Given the description of an element on the screen output the (x, y) to click on. 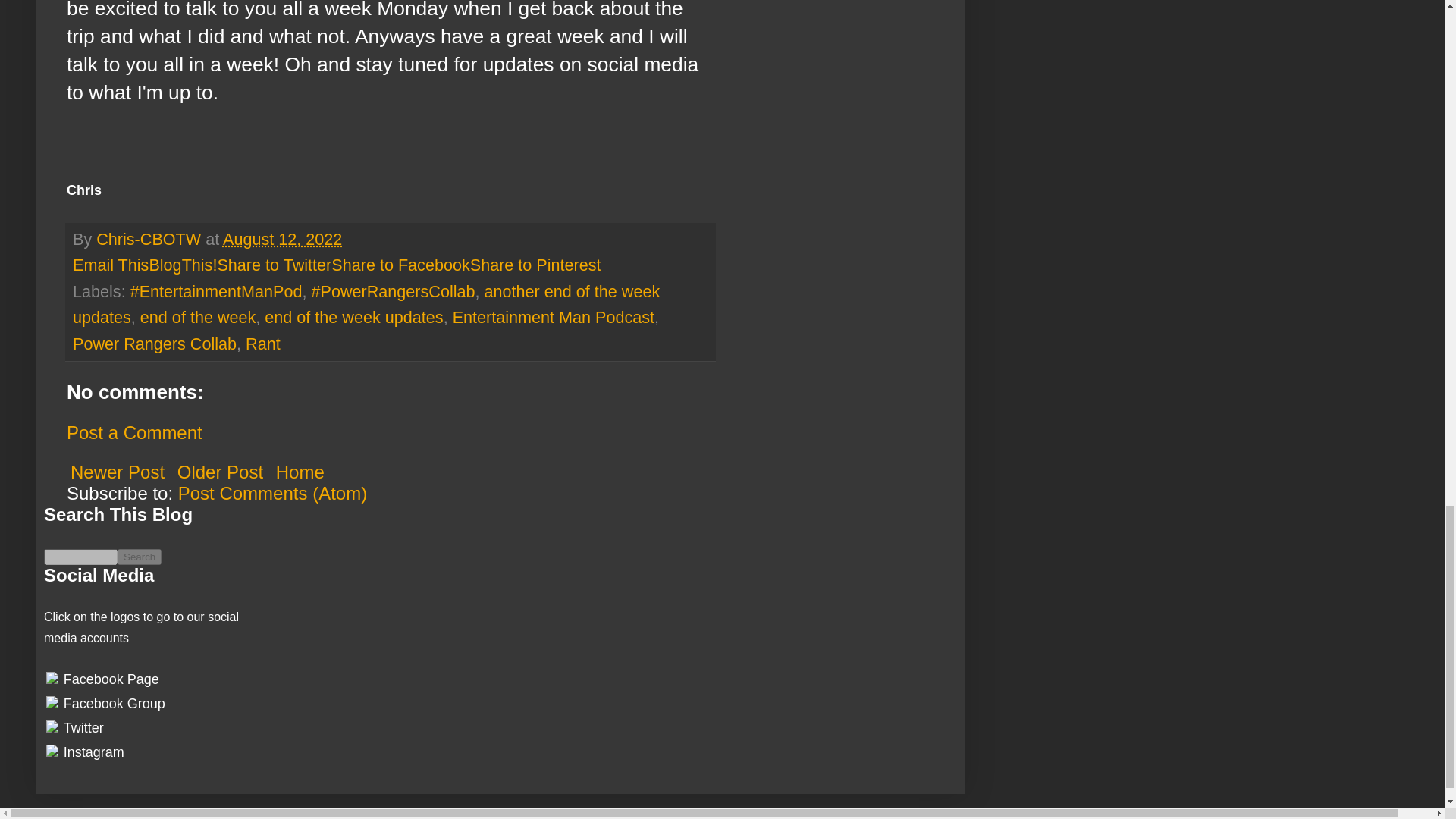
BlogThis! (182, 264)
Share to Twitter (273, 264)
Search (139, 556)
end of the week (197, 316)
Post a Comment (134, 432)
Newer Post (117, 471)
Entertainment Man Podcast (552, 316)
Older Post (219, 471)
permanent link (282, 239)
Home (300, 471)
